Given the description of an element on the screen output the (x, y) to click on. 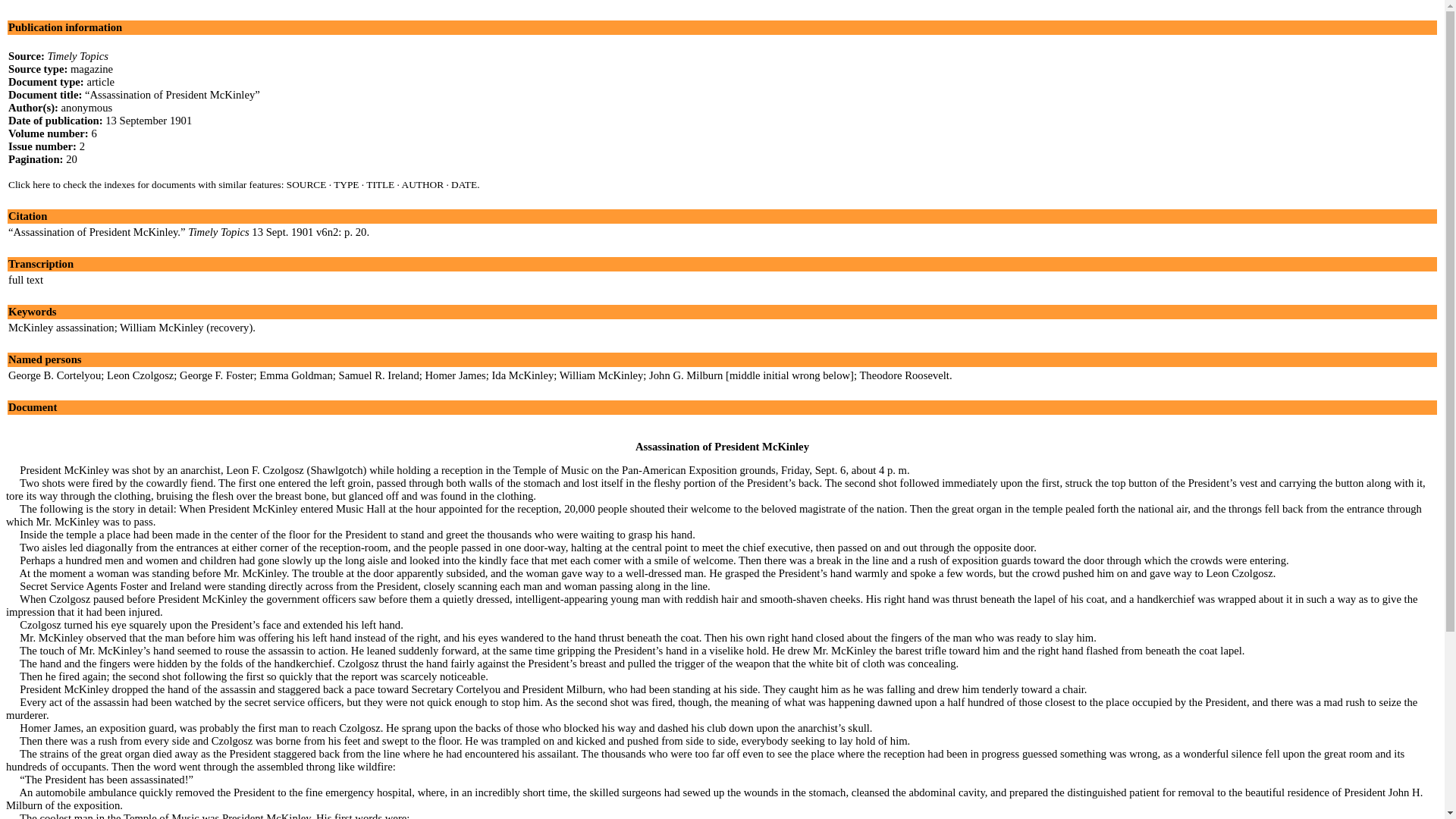
Homer James (455, 375)
SOURCE (306, 184)
William McKinley (601, 375)
George B. Cortelyou (54, 375)
Theodore Roosevelt (904, 375)
Ida McKinley (522, 375)
Samuel R. Ireland (379, 375)
George F. Foster (216, 375)
DATE (464, 184)
TYPE (345, 184)
